Given the description of an element on the screen output the (x, y) to click on. 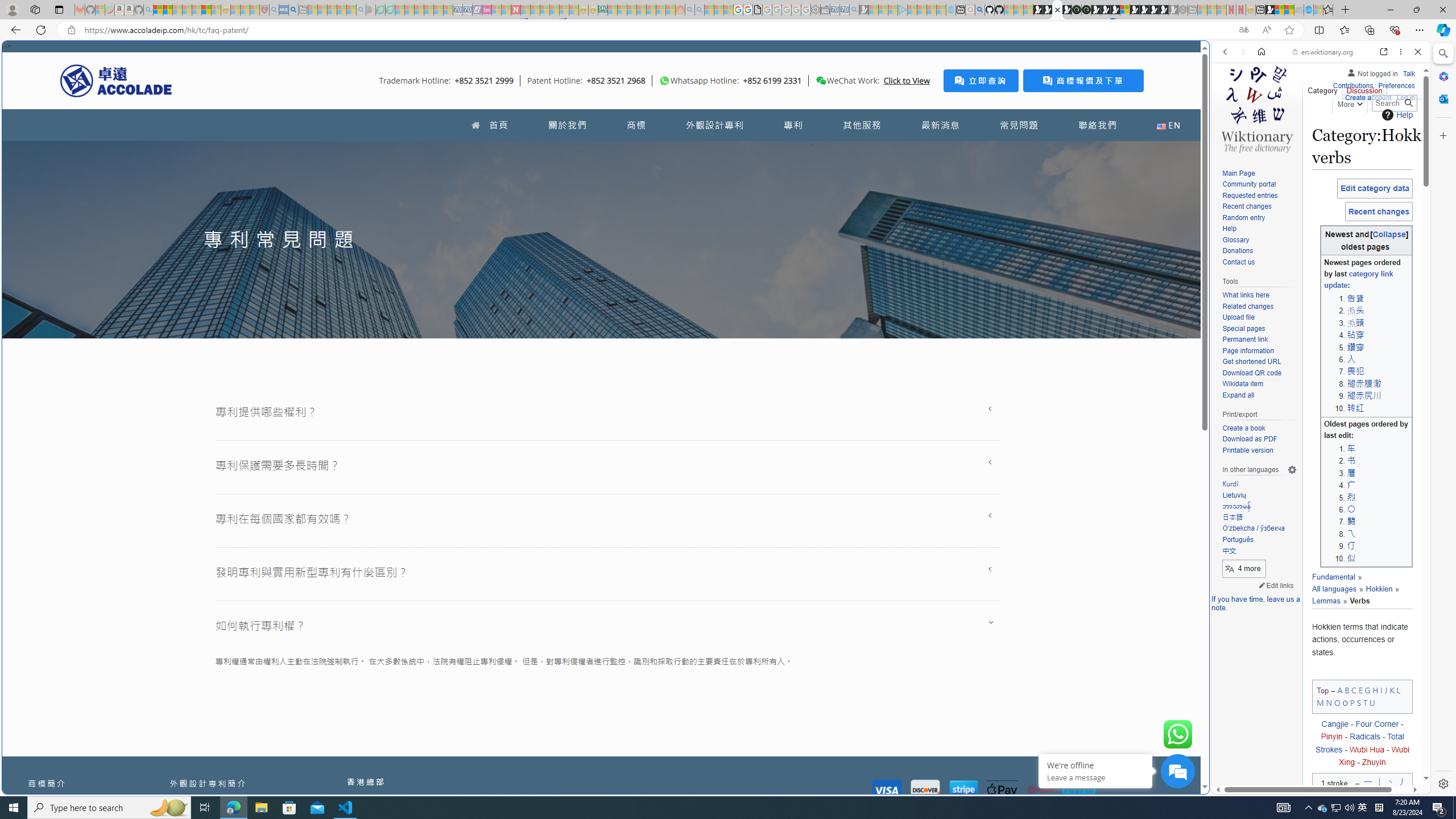
Wikidata item (1242, 384)
Related changes (1247, 306)
Lemmas (1325, 601)
Accolade IP HK Logo (116, 80)
utah sues federal government - Search (292, 9)
Play Zoo Boom in your browser | Games from Microsoft Start (1047, 9)
4 more (1243, 568)
